Given the description of an element on the screen output the (x, y) to click on. 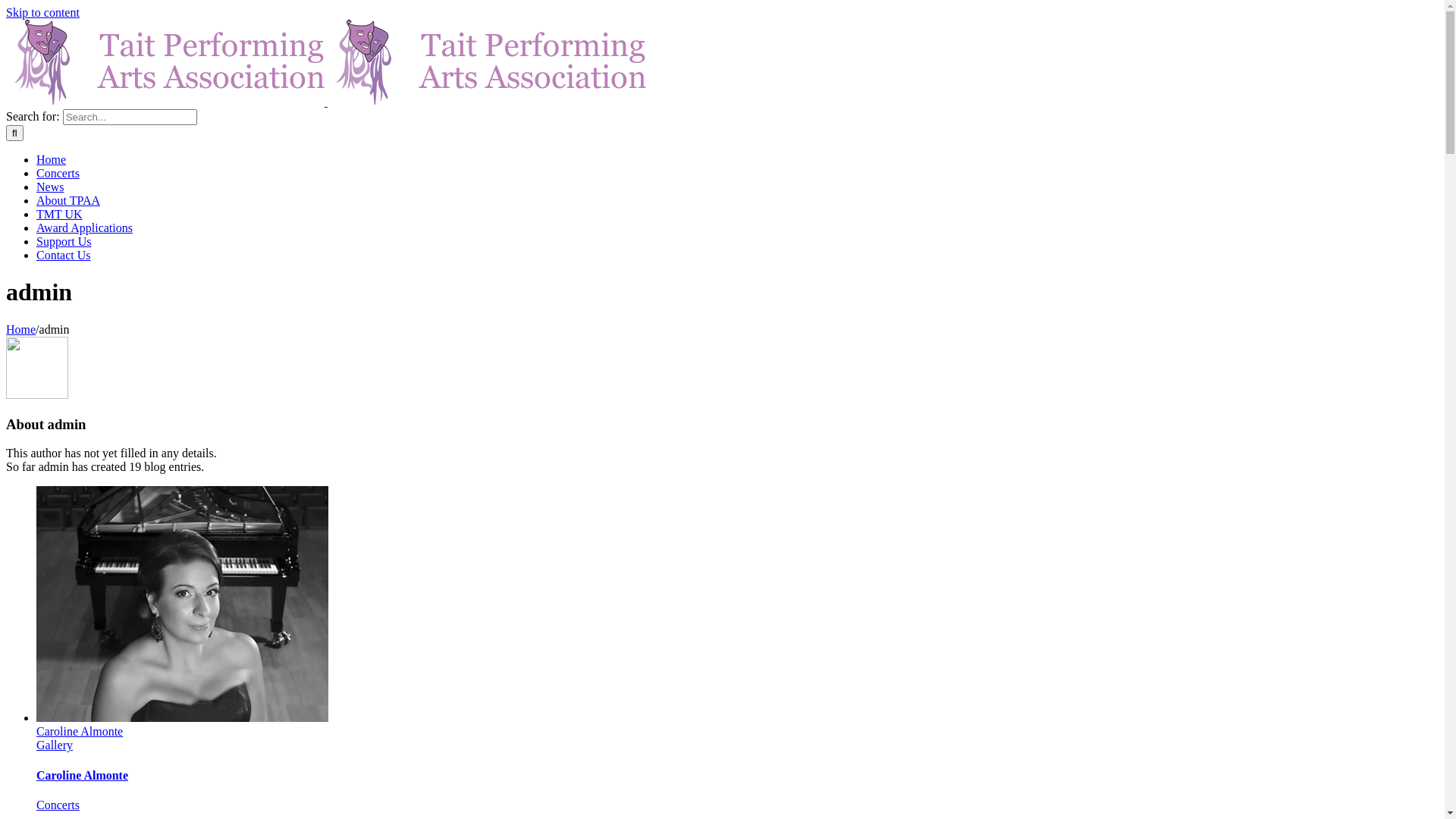
Caroline Almonte Element type: text (82, 774)
Award Applications Element type: text (84, 227)
About TPAA Element type: text (68, 200)
Concerts Element type: text (57, 172)
Contact Us Element type: text (63, 254)
Gallery Element type: text (54, 744)
Home Element type: text (20, 329)
News Element type: text (49, 186)
Caroline Almonte Element type: text (79, 730)
Concerts Element type: text (57, 804)
TMT UK Element type: text (59, 213)
Home Element type: text (50, 159)
Support Us Element type: text (63, 241)
Skip to content Element type: text (42, 12)
